Given the description of an element on the screen output the (x, y) to click on. 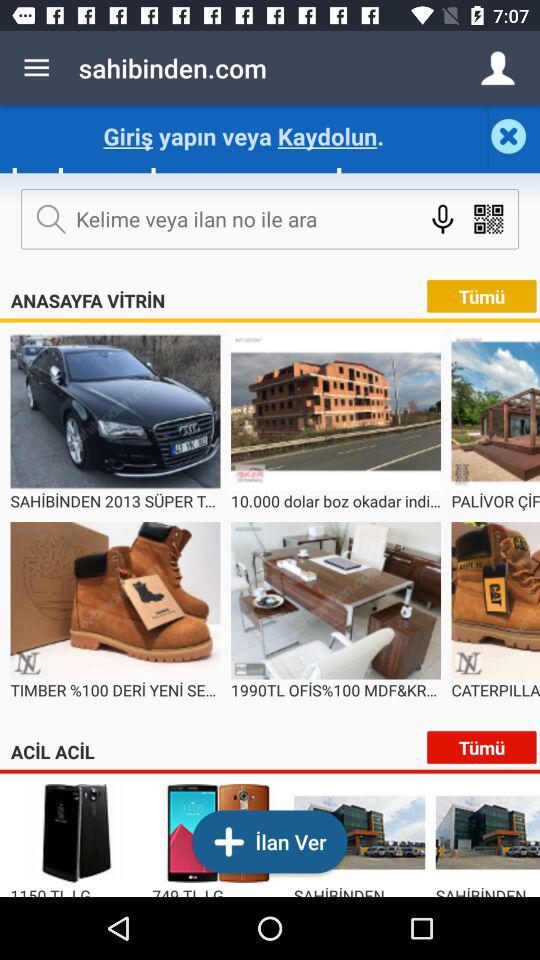
click on close button (514, 136)
click on image above close button (498, 68)
